Given the description of an element on the screen output the (x, y) to click on. 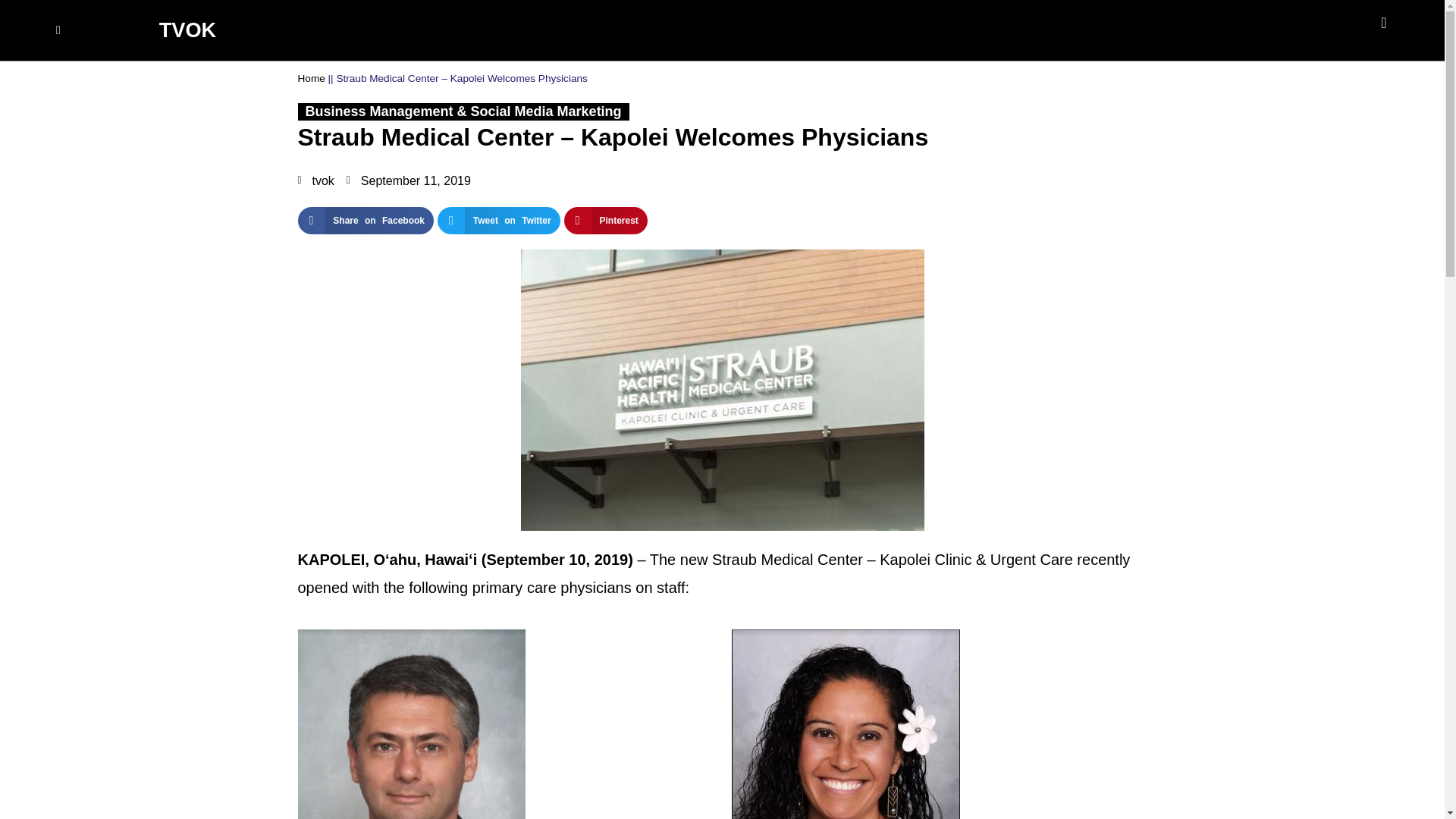
September 11, 2019 (408, 180)
TVOK (187, 29)
Home (310, 78)
tvok (315, 180)
Facebook (1390, 30)
